Given the description of an element on the screen output the (x, y) to click on. 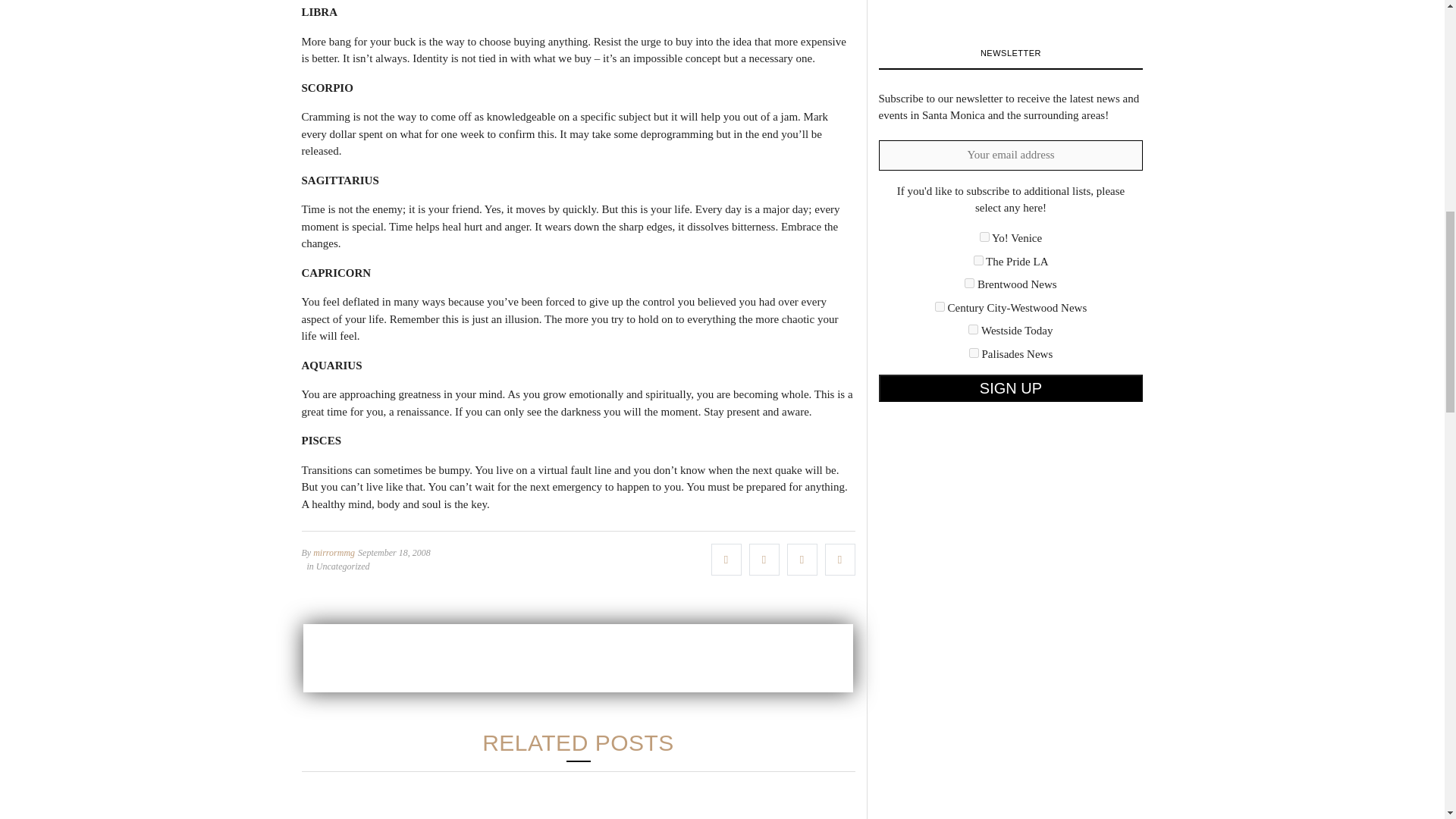
a3d1b6d535 (973, 329)
382281a661 (968, 283)
Sign up (1009, 388)
33f79e7e4d (979, 260)
3rd party ad content (577, 658)
mirrormmg (334, 552)
ec7d882848 (973, 352)
5fac618226 (939, 307)
2c616d28b5 (984, 236)
Posts by mirrormmg (334, 552)
3rd party ad content (991, 1)
